Given the description of an element on the screen output the (x, y) to click on. 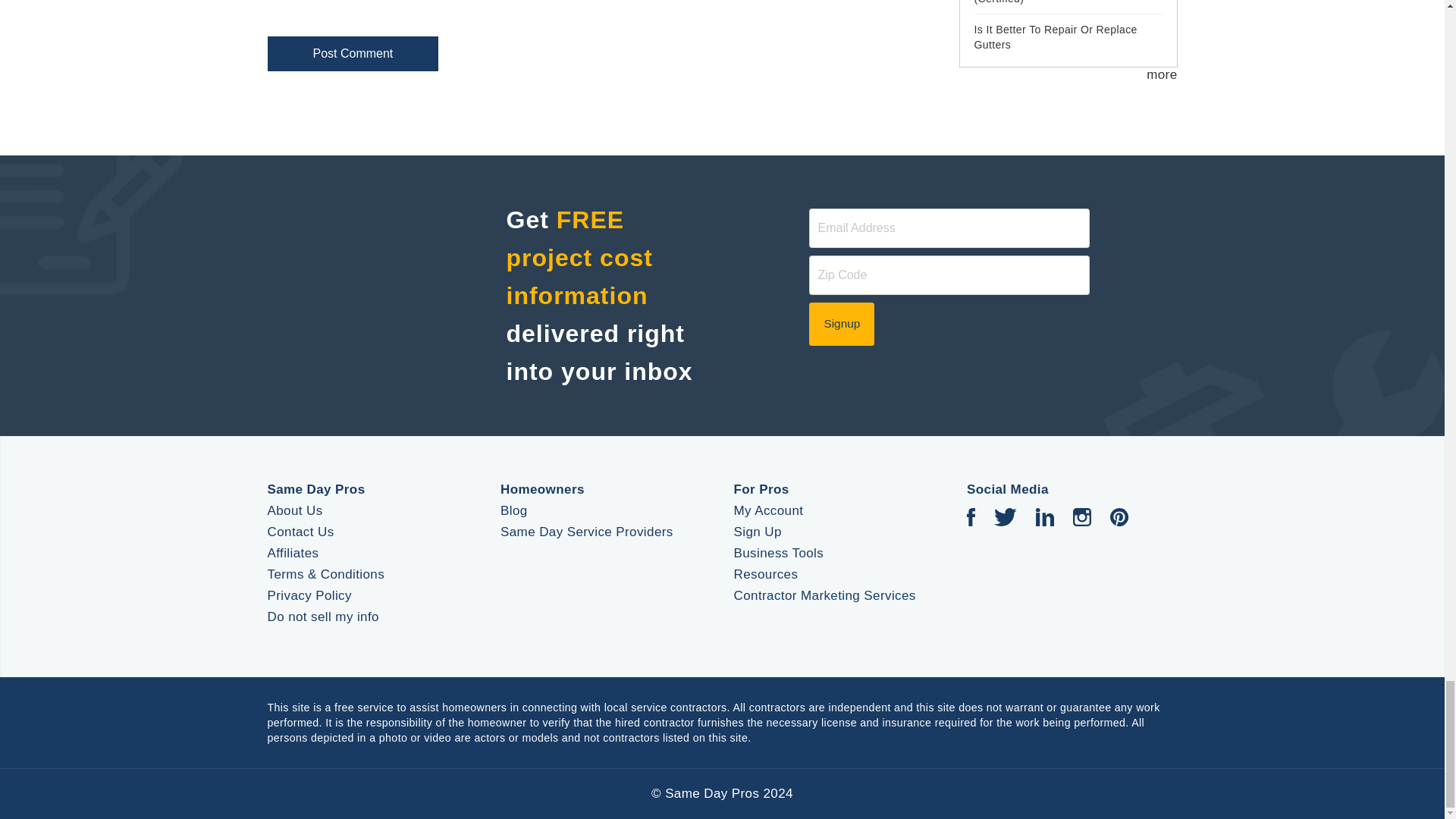
Signup (842, 323)
Post Comment (352, 53)
Post Comment (352, 53)
